Given the description of an element on the screen output the (x, y) to click on. 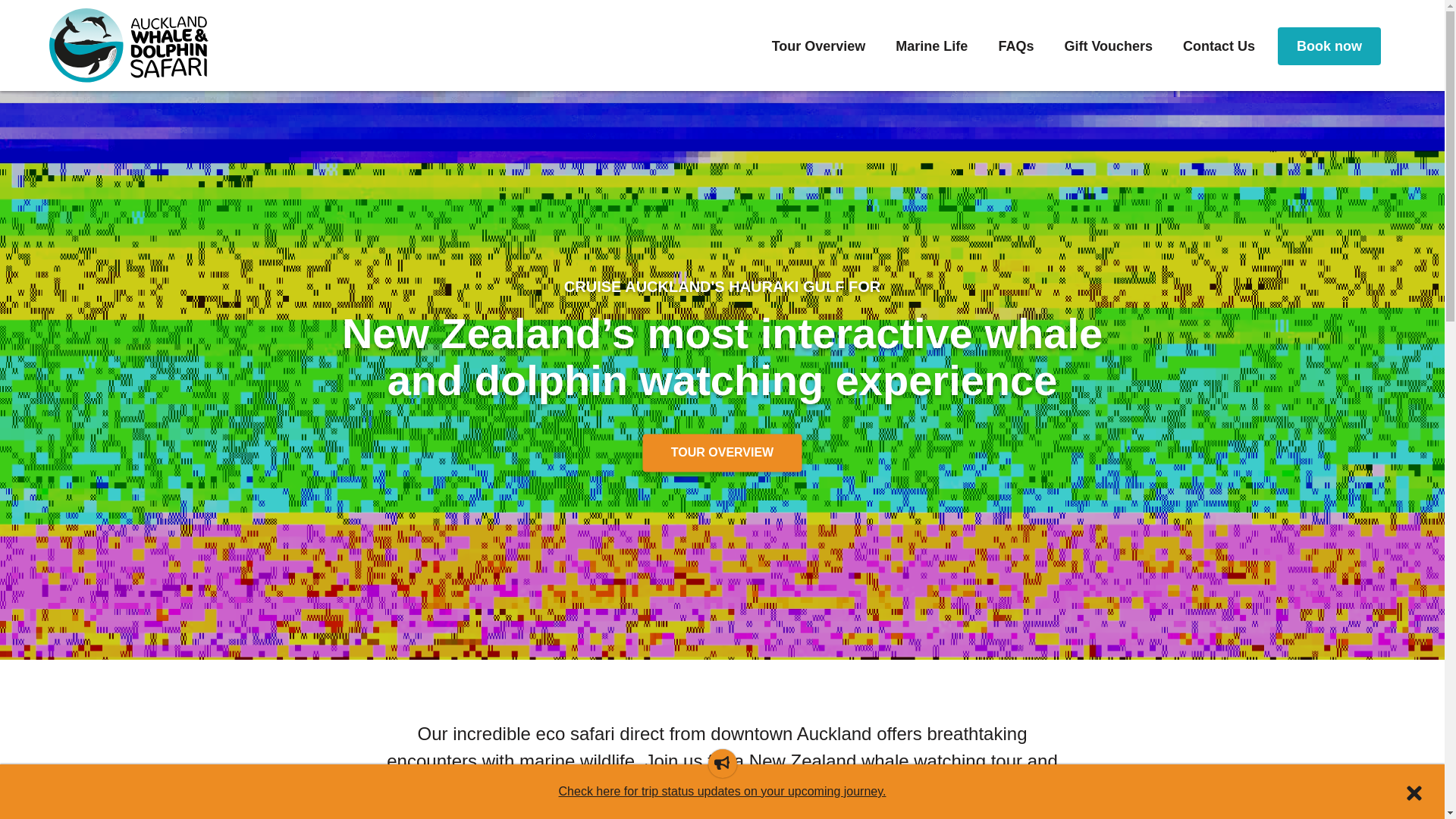
Book now (1329, 46)
Tour Overview (818, 46)
Marine Life (931, 46)
FAQs (1015, 46)
Check here for trip status updates on your upcoming journey. (722, 790)
Gift Vouchers (1108, 46)
Contact Us (1218, 46)
TOUR OVERVIEW (722, 453)
